Given the description of an element on the screen output the (x, y) to click on. 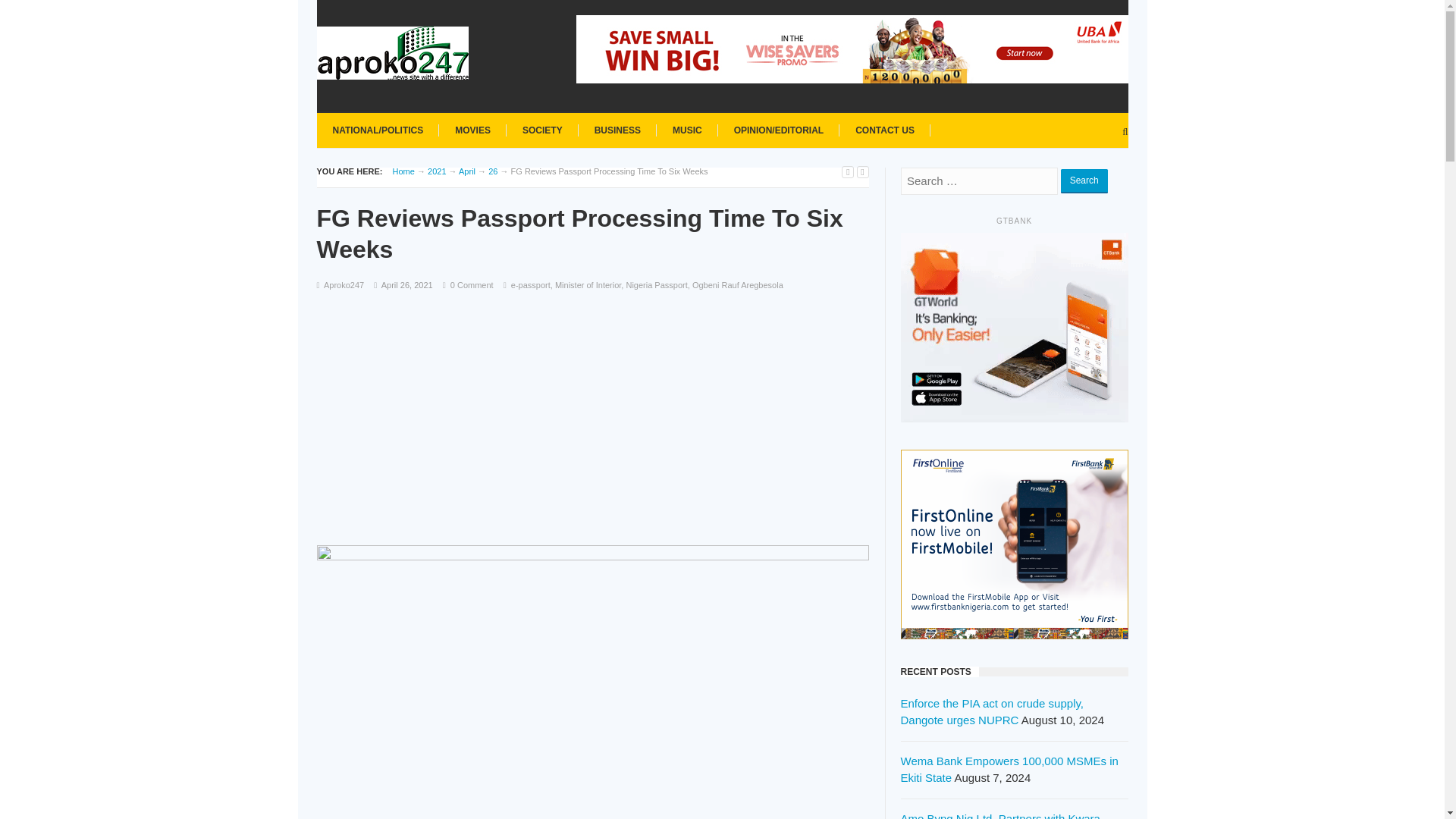
SOCIETY (542, 129)
Home (403, 171)
0 Comment (471, 284)
26 (492, 171)
Minister of Interior (587, 284)
Advertisement (593, 410)
2021 (436, 171)
MOVIES (473, 129)
Ogbeni Rauf Aregbesola (738, 284)
Previous Post (847, 171)
